Given the description of an element on the screen output the (x, y) to click on. 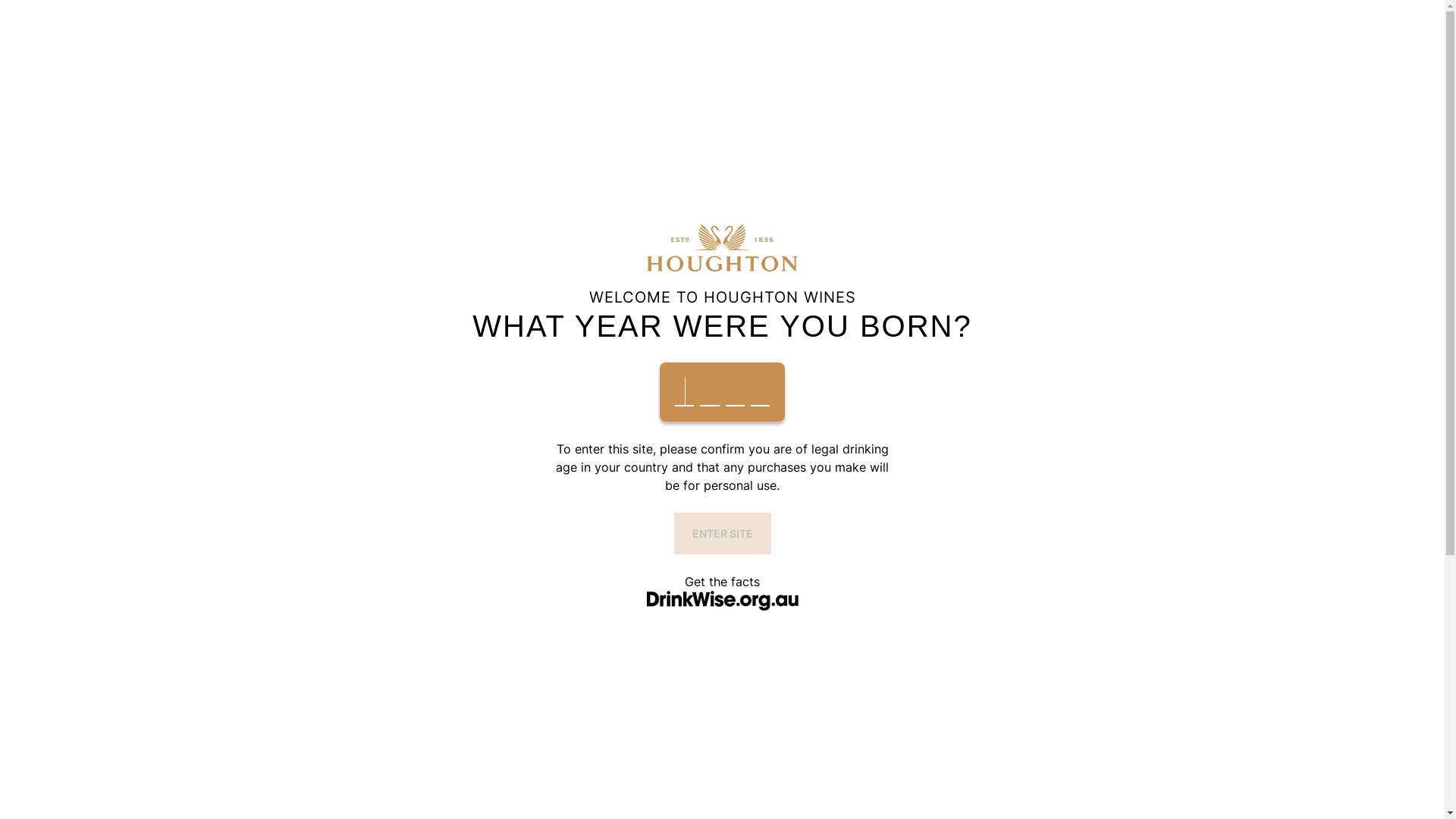
Cellar Door Element type: text (579, 56)
Our Wines Element type: text (411, 56)
Get the facts Element type: text (721, 581)
APPLY FILTERS Element type: text (280, 639)
Shopping Cart Element type: hover (1220, 57)
JOIN THE CLUB Element type: text (923, 56)
ENTER SITE Element type: text (721, 533)
Houghton Wisdom Pinot Noir 2020 Element type: text (1107, 566)
Houghton Wisdom Cabernet Sauvignon 2020 Element type: text (594, 566)
Our Story Element type: text (493, 56)
Houghton Element type: hover (295, 56)
Houghton Wisdom Chardonnay 2020 Element type: hover (850, 712)
BOOK NOW Element type: text (673, 57)
Houghton Wisdom Cabernet Sauvignon 2020 Element type: hover (594, 712)
Houghton Wisdom Pinot Noir 2020 Element type: hover (1107, 712)
Visit Our Cellar Door - Book Now Element type: text (721, 14)
Houghton Wisdom Chardonnay 2020 Element type: text (850, 566)
Home Element type: text (247, 361)
